Given the description of an element on the screen output the (x, y) to click on. 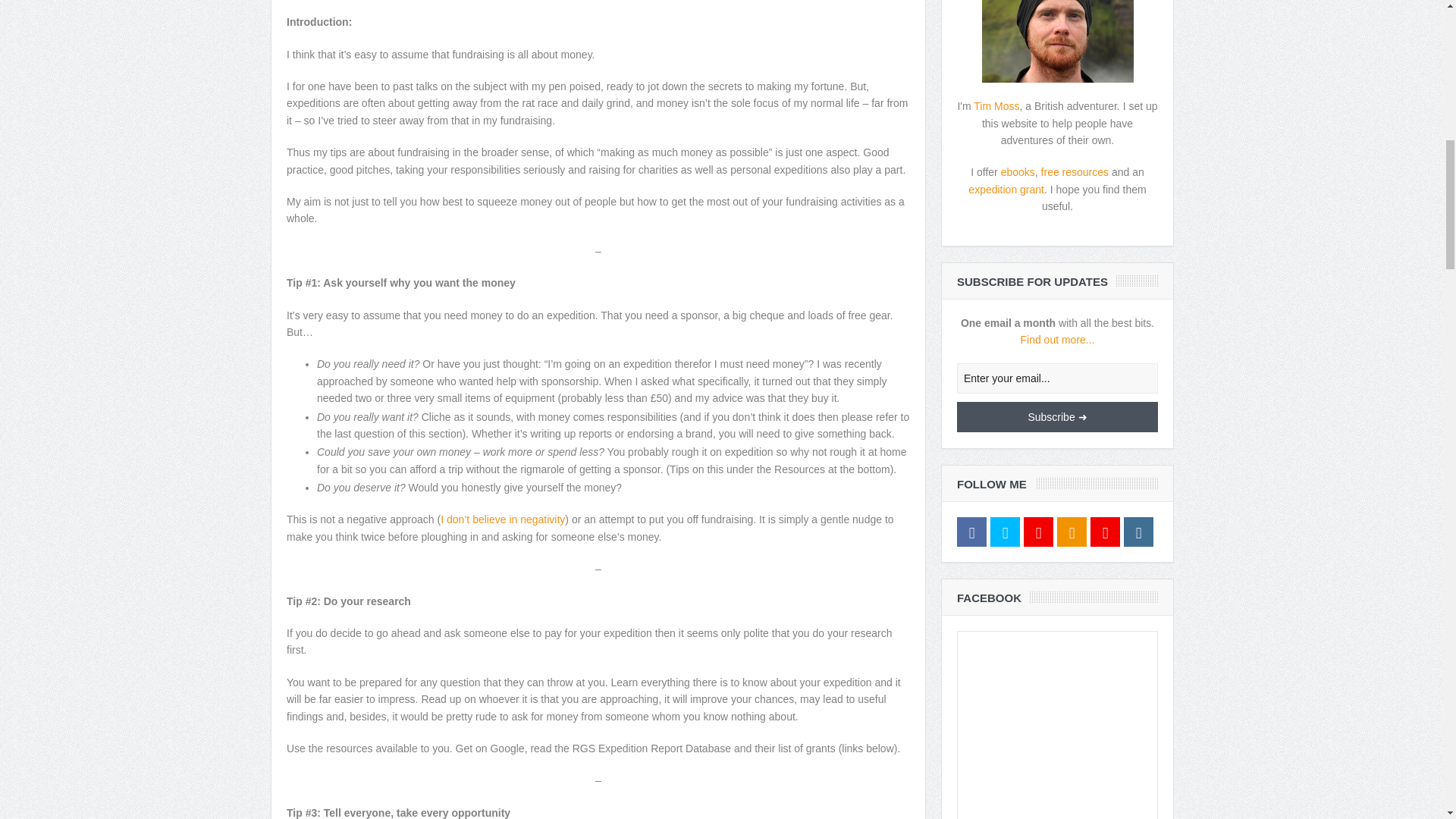
Enter your email... (1056, 378)
